Given the description of an element on the screen output the (x, y) to click on. 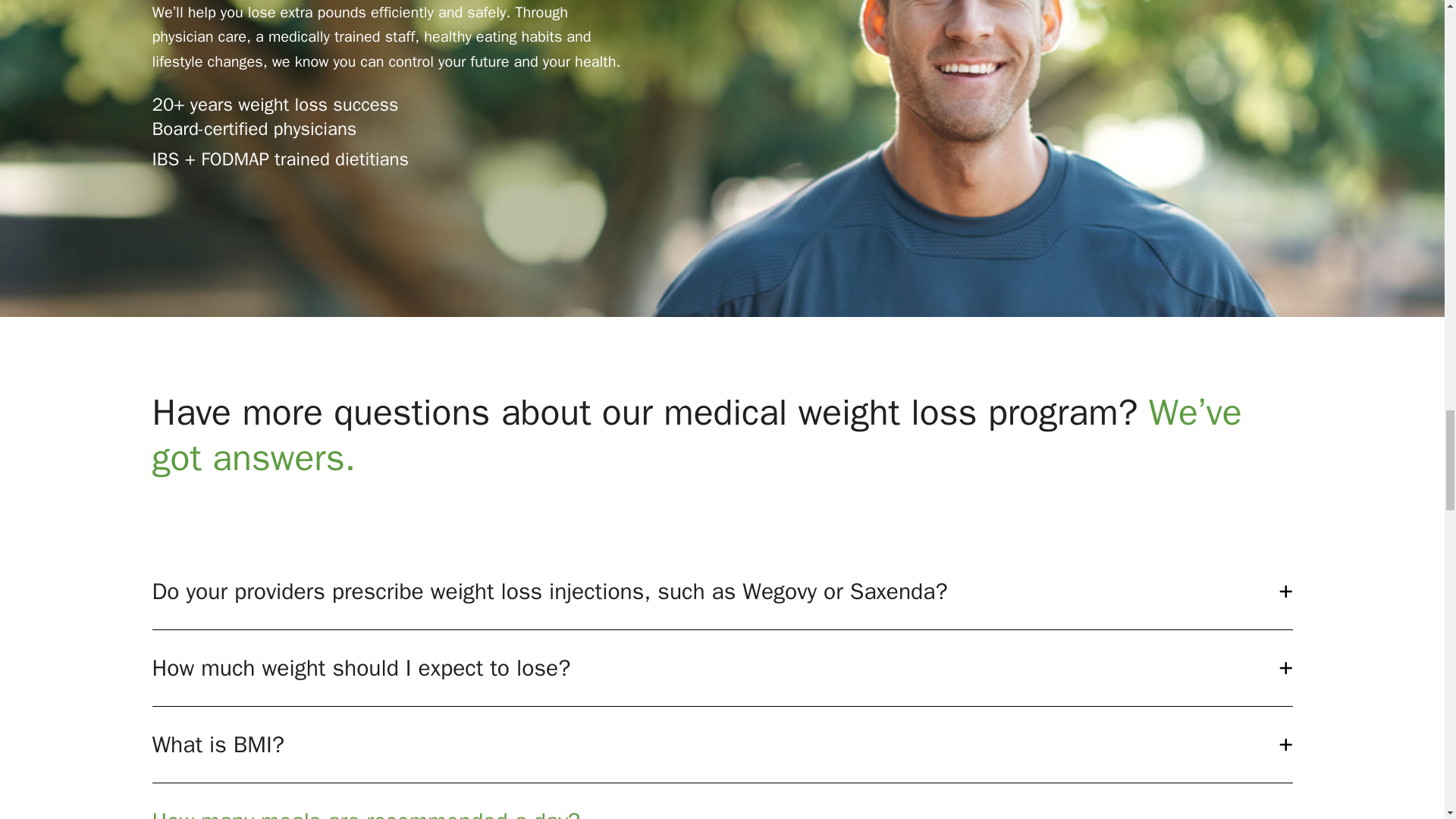
How much weight should I expect to lose? (721, 667)
What is BMI? (721, 744)
